Given the description of an element on the screen output the (x, y) to click on. 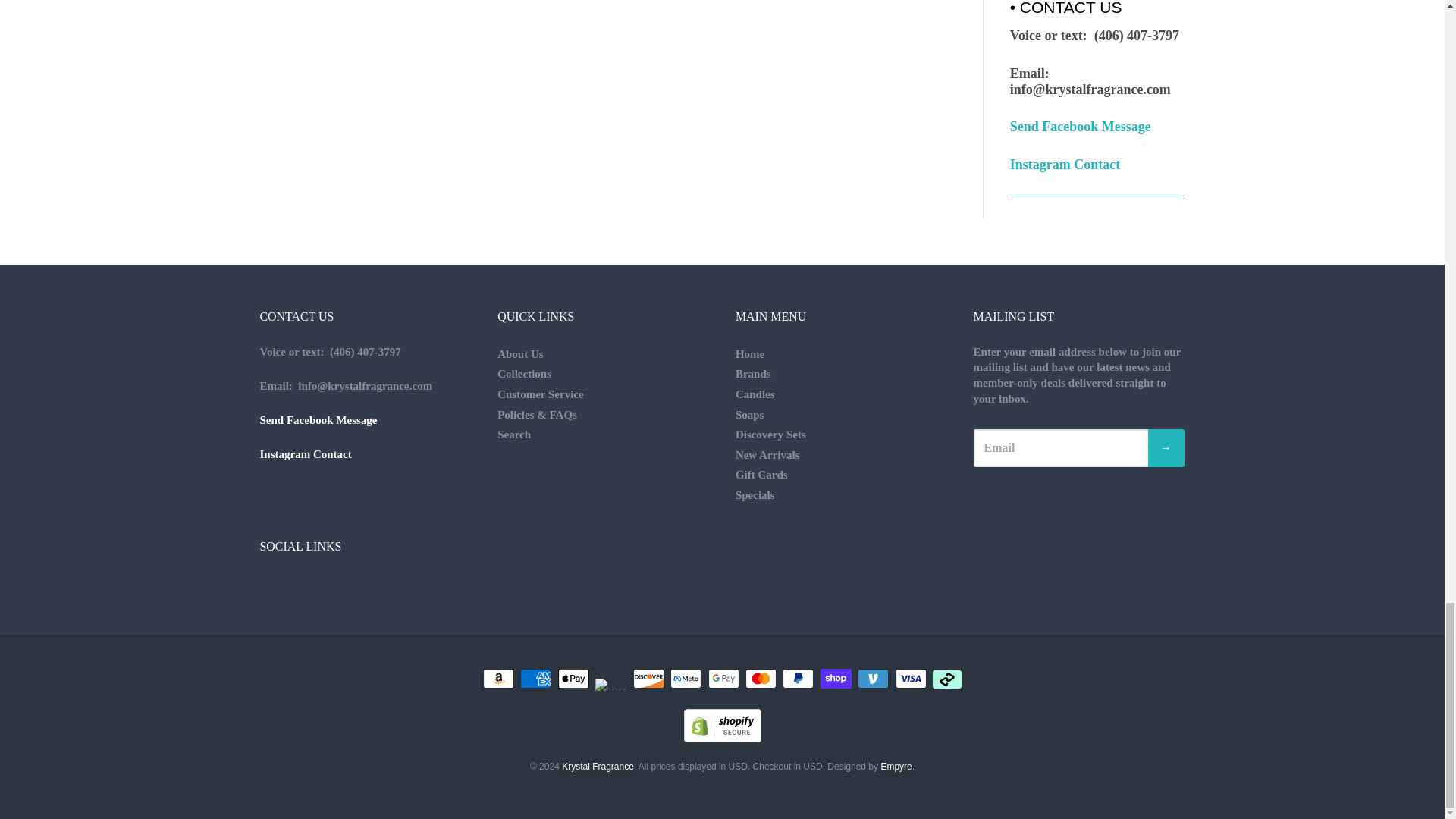
This online store is secured by Shopify (722, 738)
